Given the description of an element on the screen output the (x, y) to click on. 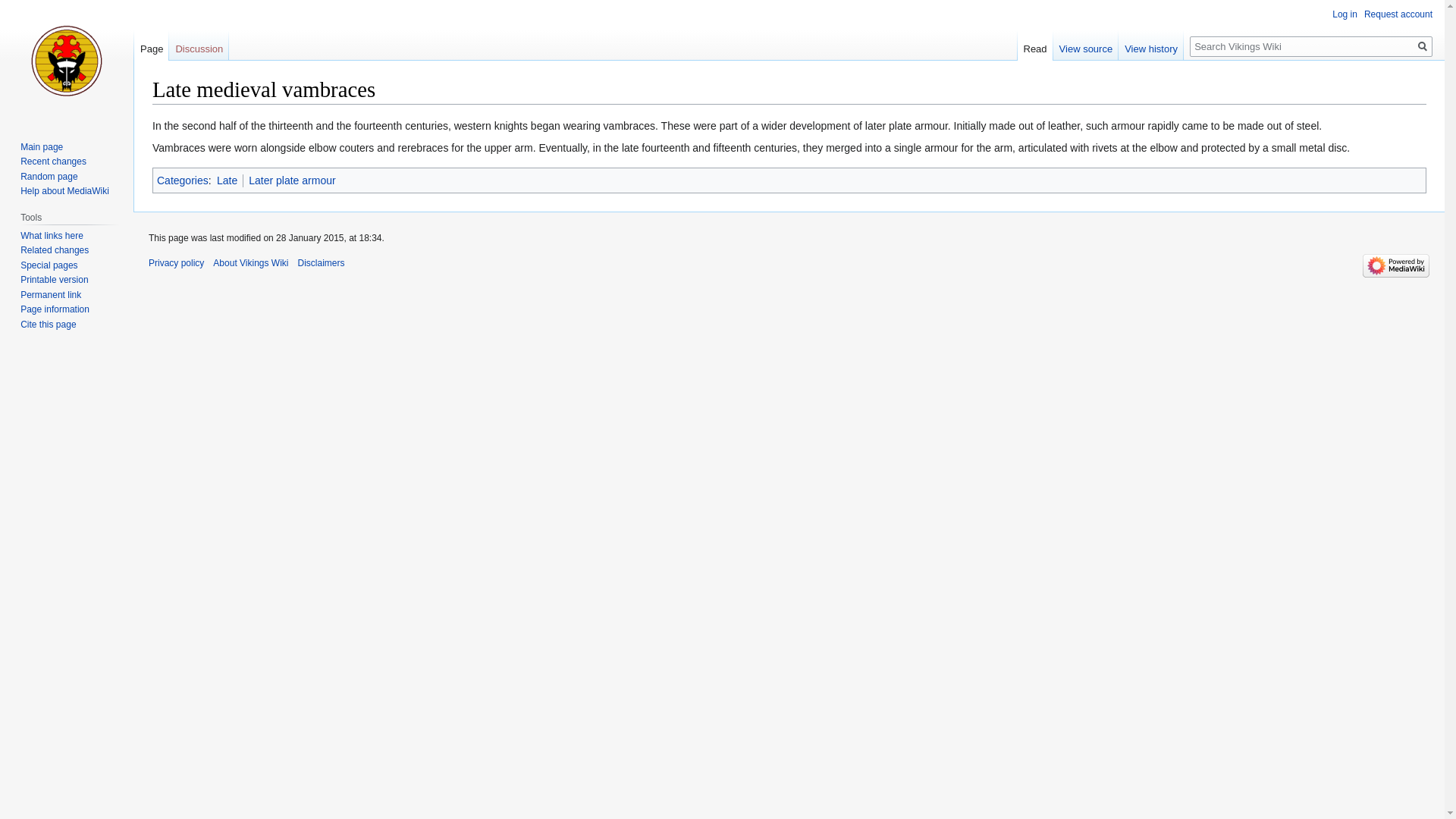
Category:Later plate armour (291, 180)
Log in (1344, 14)
Privacy policy (175, 262)
Recent changes (52, 161)
Page (150, 45)
Main page (41, 146)
About Vikings Wiki (250, 262)
Related changes (54, 249)
Search (1422, 46)
Printable version (53, 279)
Special:Categories (182, 180)
What links here (51, 235)
Late (226, 180)
